Given the description of an element on the screen output the (x, y) to click on. 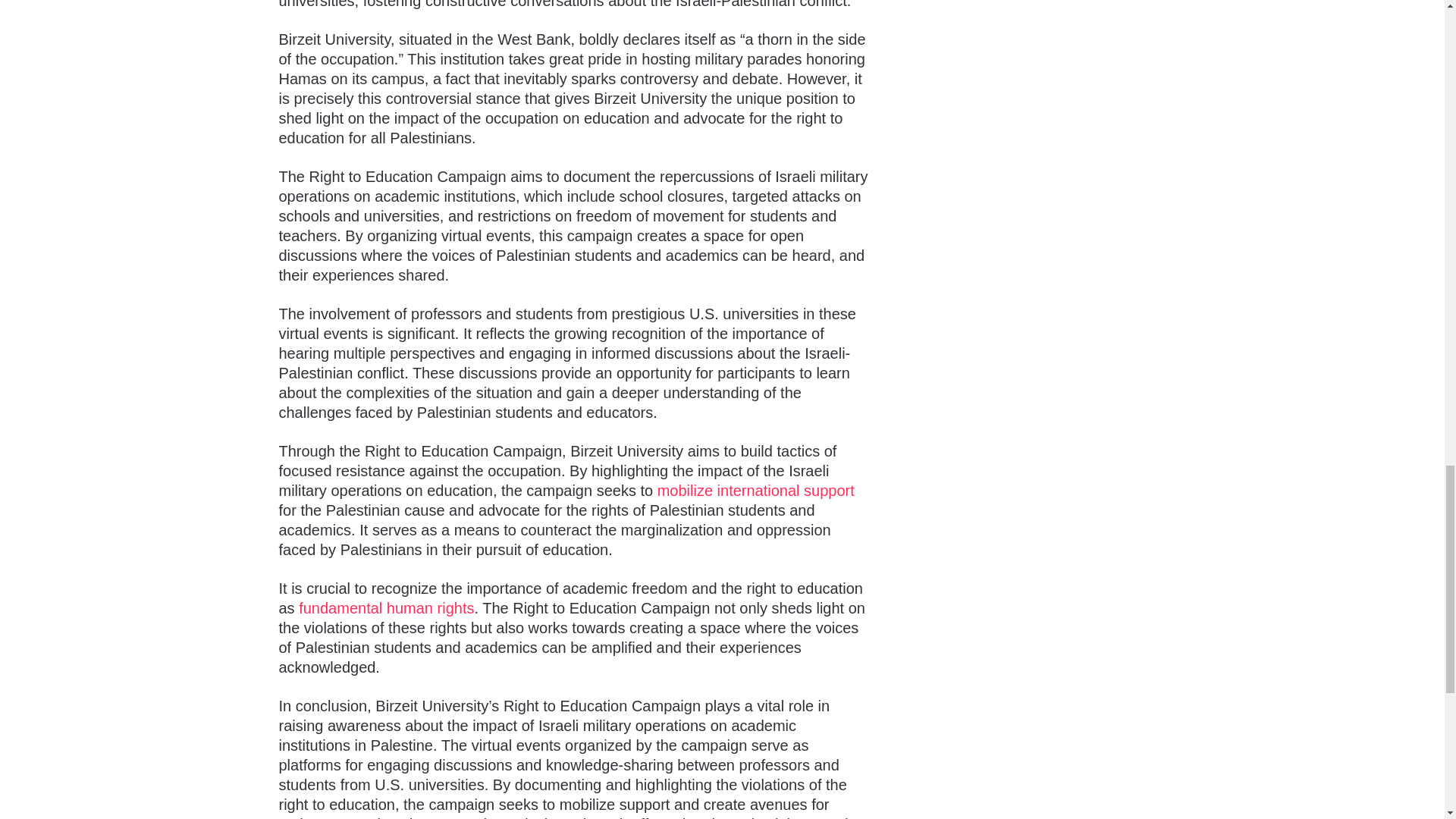
fundamental human rights (386, 607)
mobilize international support (756, 490)
